Given the description of an element on the screen output the (x, y) to click on. 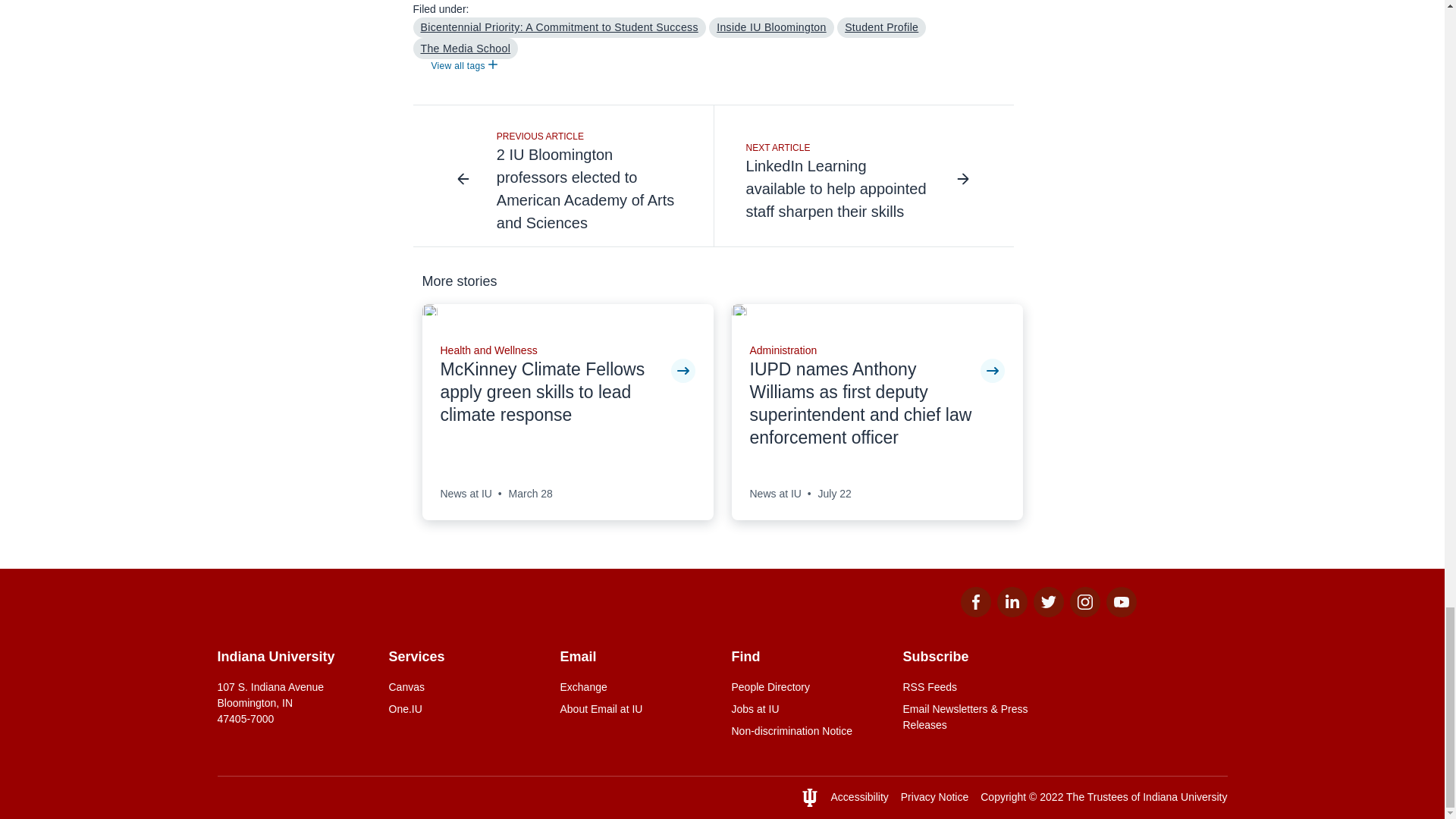
The Media School (465, 47)
View all tags Plus sign (463, 66)
Facebook for IU (974, 612)
Bicentennial Priority: A Commitment to Student Success (558, 27)
Youtube for IU (1120, 612)
About Email at IU (636, 709)
Plus sign (492, 63)
